Given the description of an element on the screen output the (x, y) to click on. 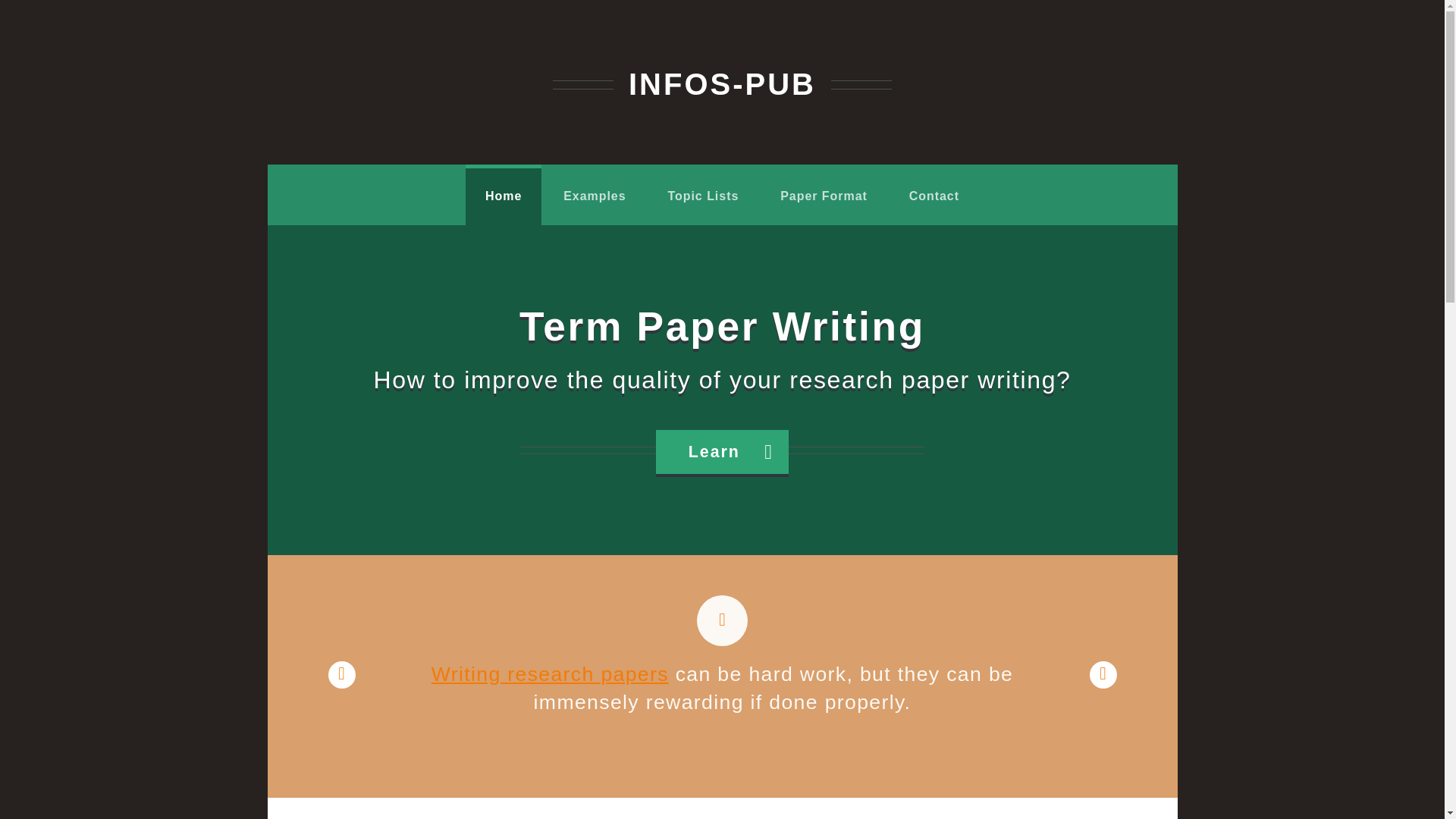
Topic Lists (702, 195)
Writing research papers (549, 673)
Examples (595, 195)
Contact (933, 195)
INFOS-PUB (721, 83)
Home (502, 195)
Paper Format (823, 195)
Learn (722, 452)
